Given the description of an element on the screen output the (x, y) to click on. 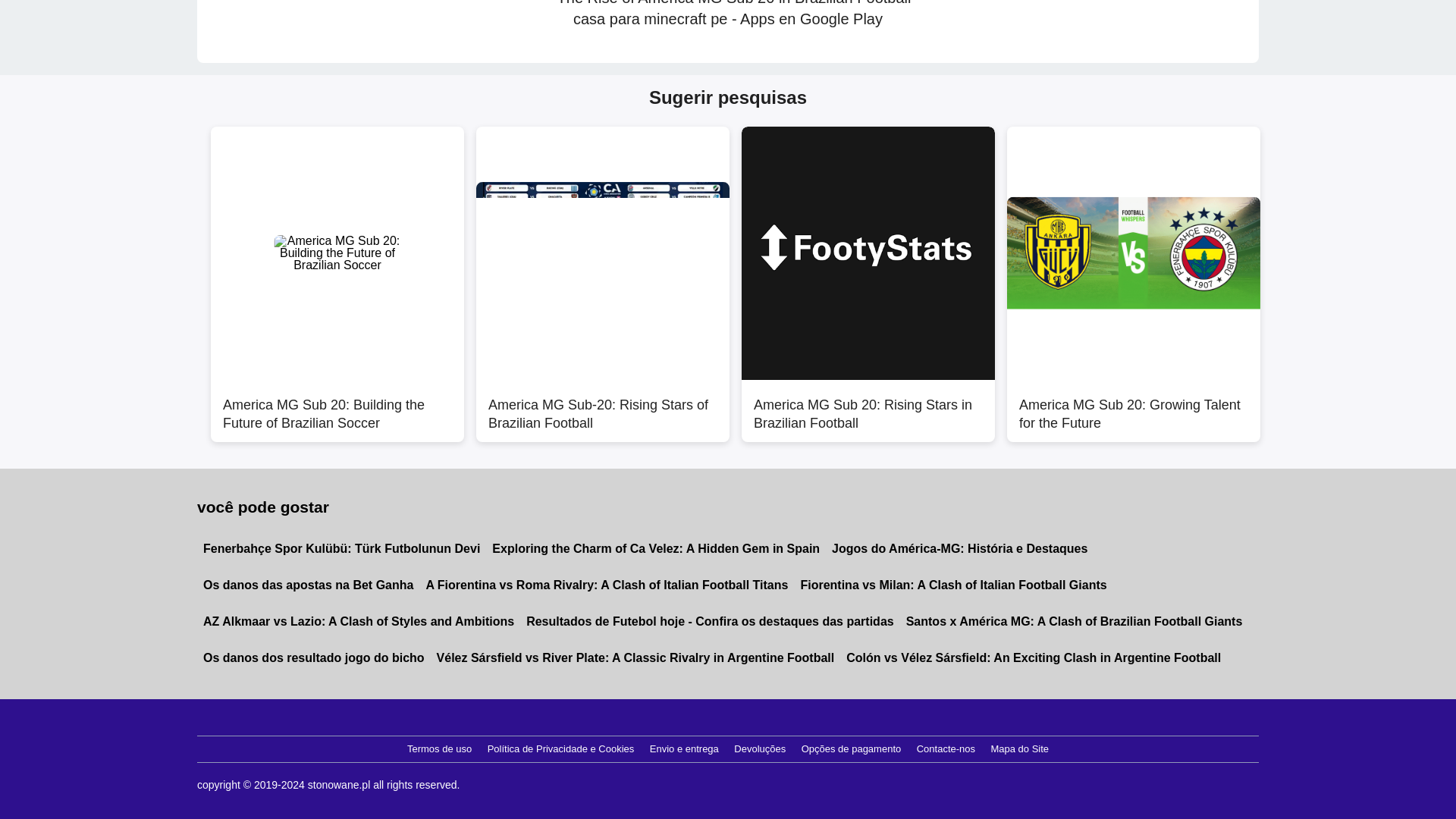
Contacte-nos (946, 749)
AZ Alkmaar vs Lazio: A Clash of Styles and Ambitions (357, 621)
America MG Sub 20: Building the Future of Brazilian Soccer (337, 406)
Exploring the Charm of Ca Velez: A Hidden Gem in Spain (655, 548)
Envio e entrega (684, 749)
Os danos dos resultado jogo do bicho (313, 657)
America MG Sub 20: Growing Talent for the Future (1133, 406)
America MG Sub-20: Rising Stars of Brazilian Football (602, 406)
